Given the description of an element on the screen output the (x, y) to click on. 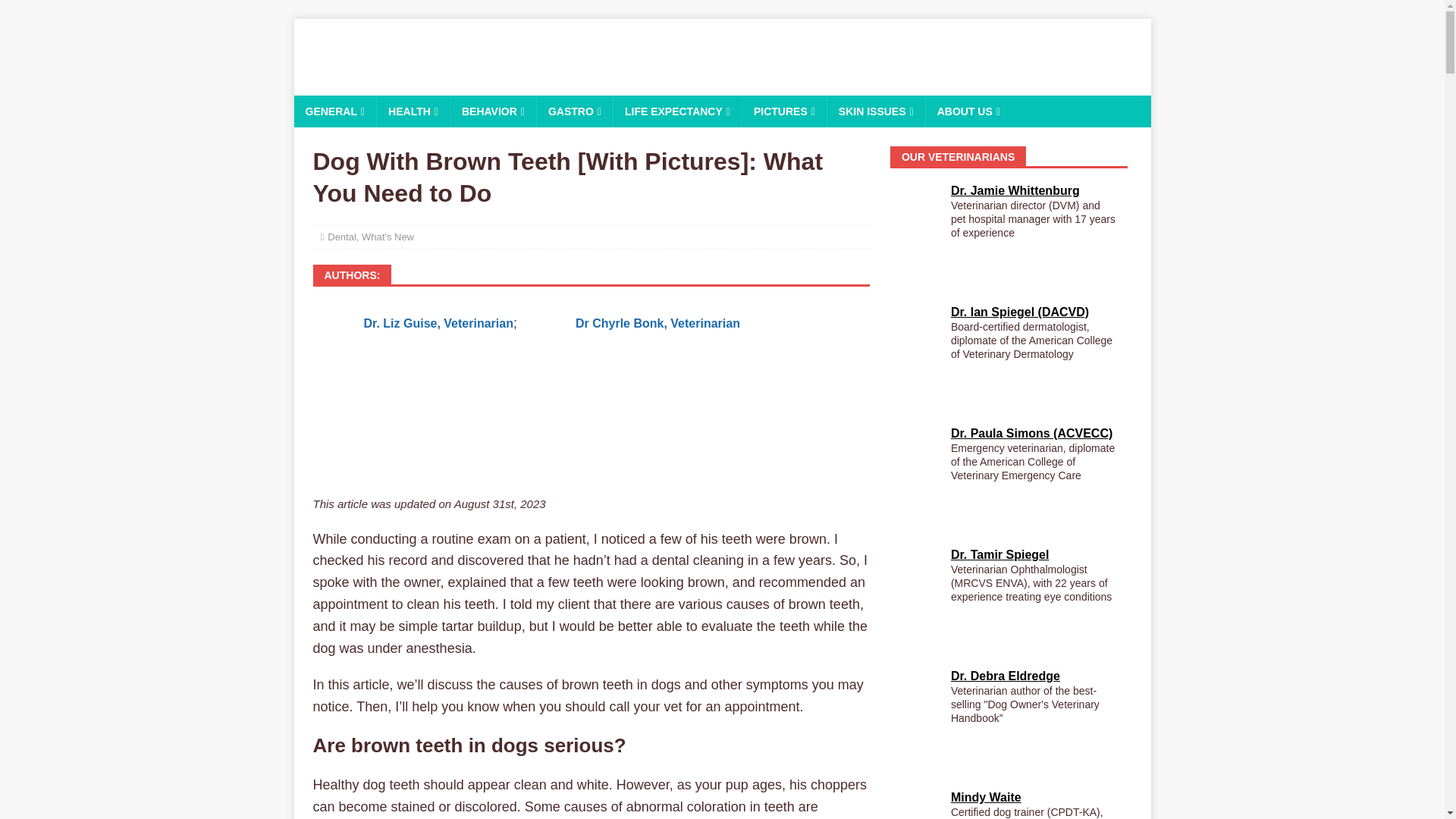
Dr Chyrle Bonk, Veterinarian (657, 323)
Dr. Liz Guise, Veterinarian (438, 323)
Dog-With-Brown-Teeth (591, 422)
HEALTH (412, 111)
GENERAL (335, 111)
